Given the description of an element on the screen output the (x, y) to click on. 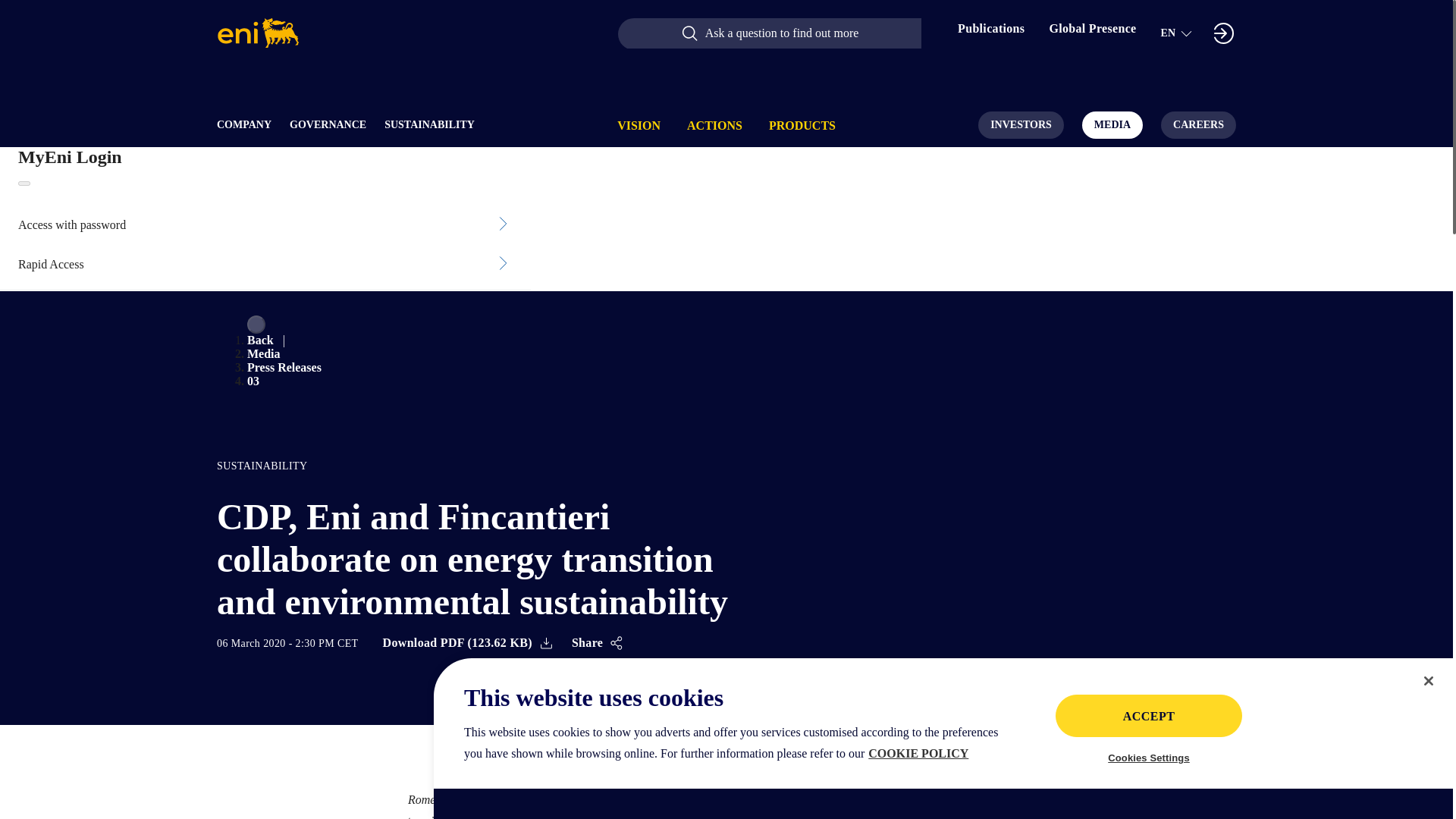
Publications (991, 33)
Media (264, 353)
Press Releases (284, 367)
03 (253, 380)
Global Presence (1091, 33)
Back (260, 339)
